Given the description of an element on the screen output the (x, y) to click on. 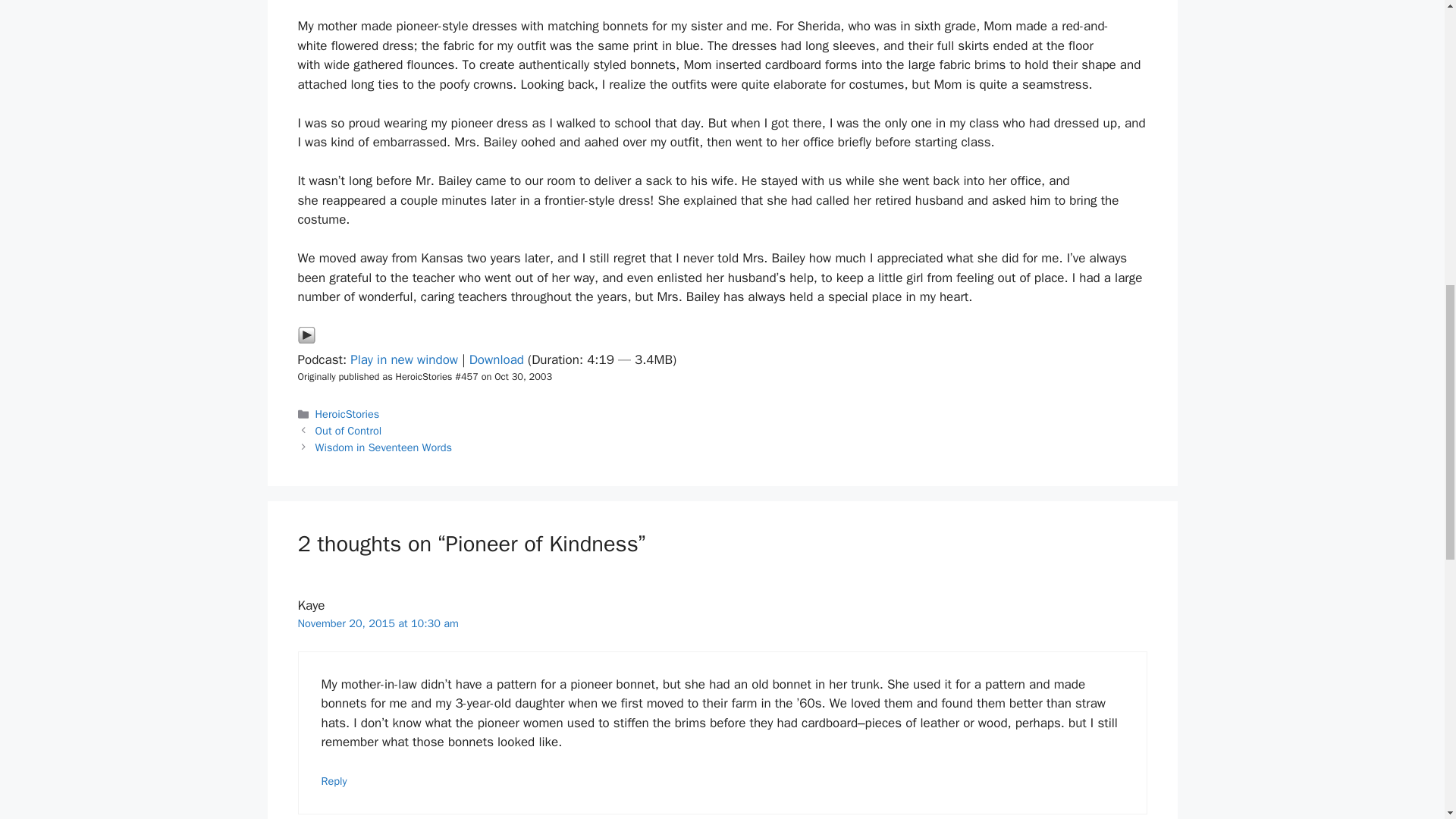
Play in new window (404, 359)
Download (496, 359)
Download (496, 359)
Play (305, 340)
Wisdom in Seventeen Words (383, 447)
Out of Control (348, 430)
Reply (334, 780)
Play in new window (404, 359)
November 20, 2015 at 10:30 am (377, 622)
HeroicStories (347, 413)
